Given the description of an element on the screen output the (x, y) to click on. 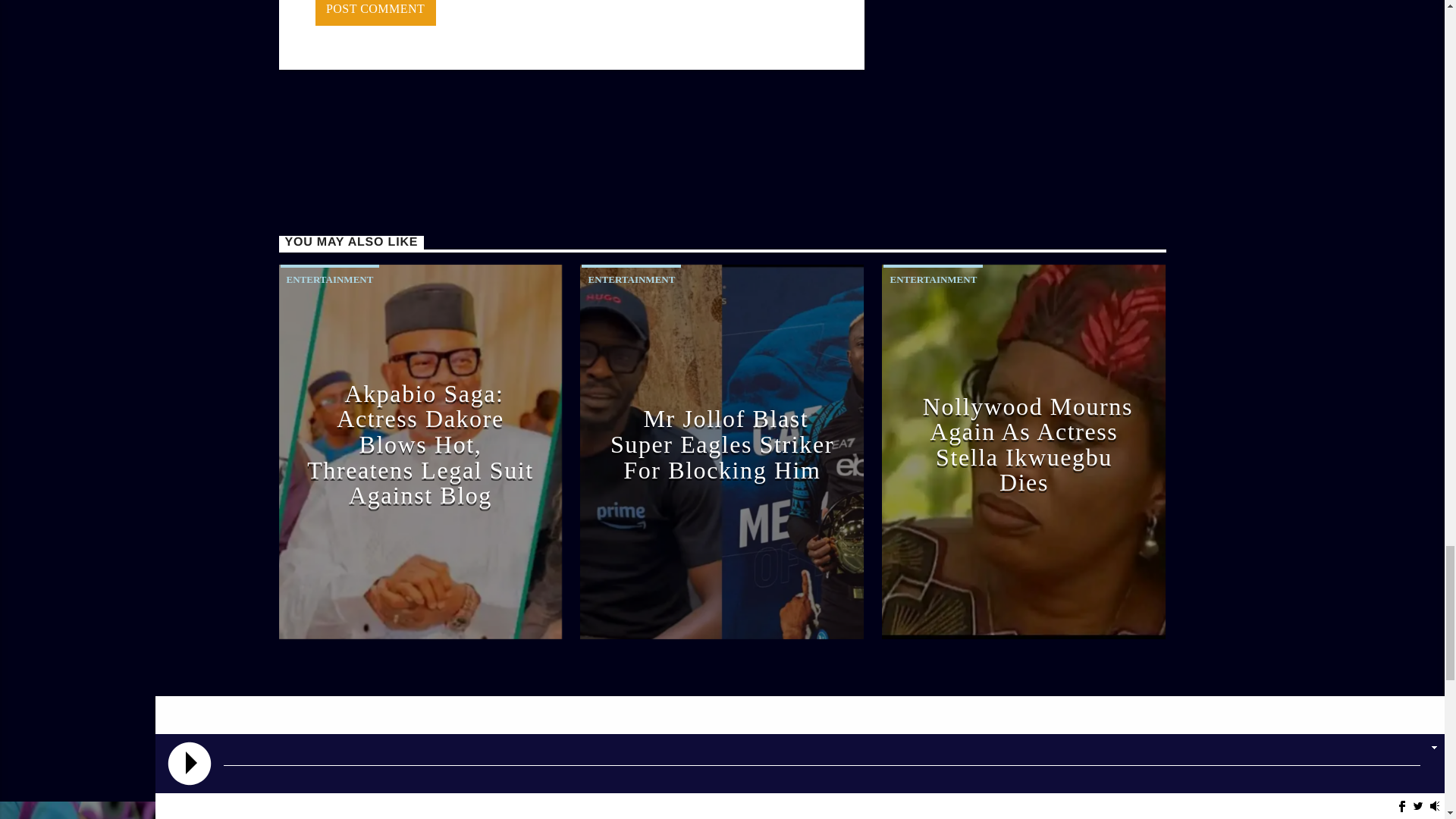
Post Comment (375, 13)
